Given the description of an element on the screen output the (x, y) to click on. 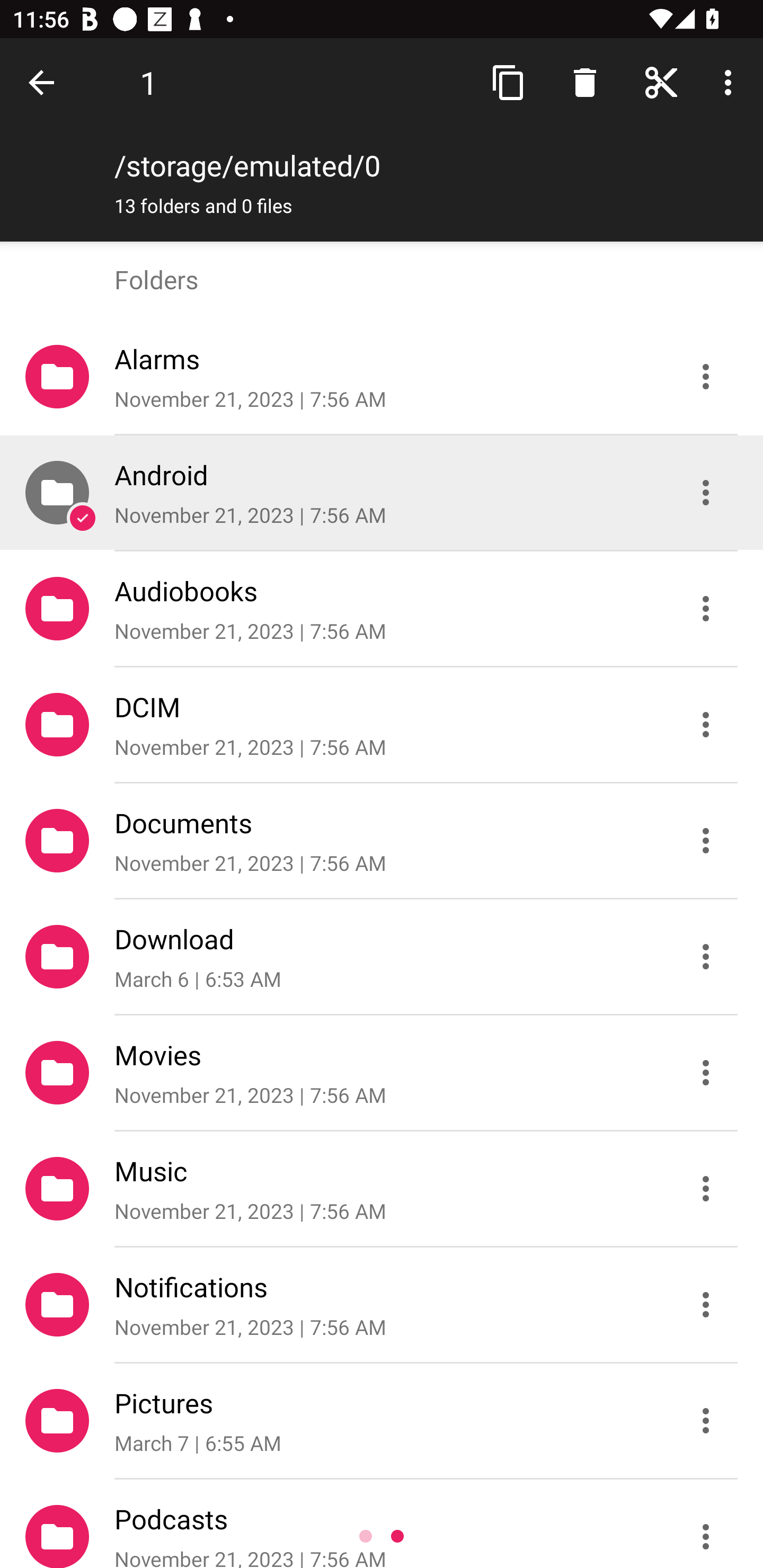
1 (148, 82)
Done (44, 81)
Copy (508, 81)
Search (585, 81)
Home (661, 81)
More options (731, 81)
Alarms November 21, 2023 | 7:56 AM (381, 376)
Android November 21, 2023 | 7:56 AM (381, 492)
Audiobooks November 21, 2023 | 7:56 AM (381, 608)
DCIM November 21, 2023 | 7:56 AM (381, 724)
Documents November 21, 2023 | 7:56 AM (381, 841)
Download March 6 | 6:53 AM (381, 957)
Movies November 21, 2023 | 7:56 AM (381, 1073)
Music November 21, 2023 | 7:56 AM (381, 1189)
Notifications November 21, 2023 | 7:56 AM (381, 1305)
Pictures March 7 | 6:55 AM (381, 1421)
Podcasts November 21, 2023 | 7:56 AM (381, 1524)
